Given the description of an element on the screen output the (x, y) to click on. 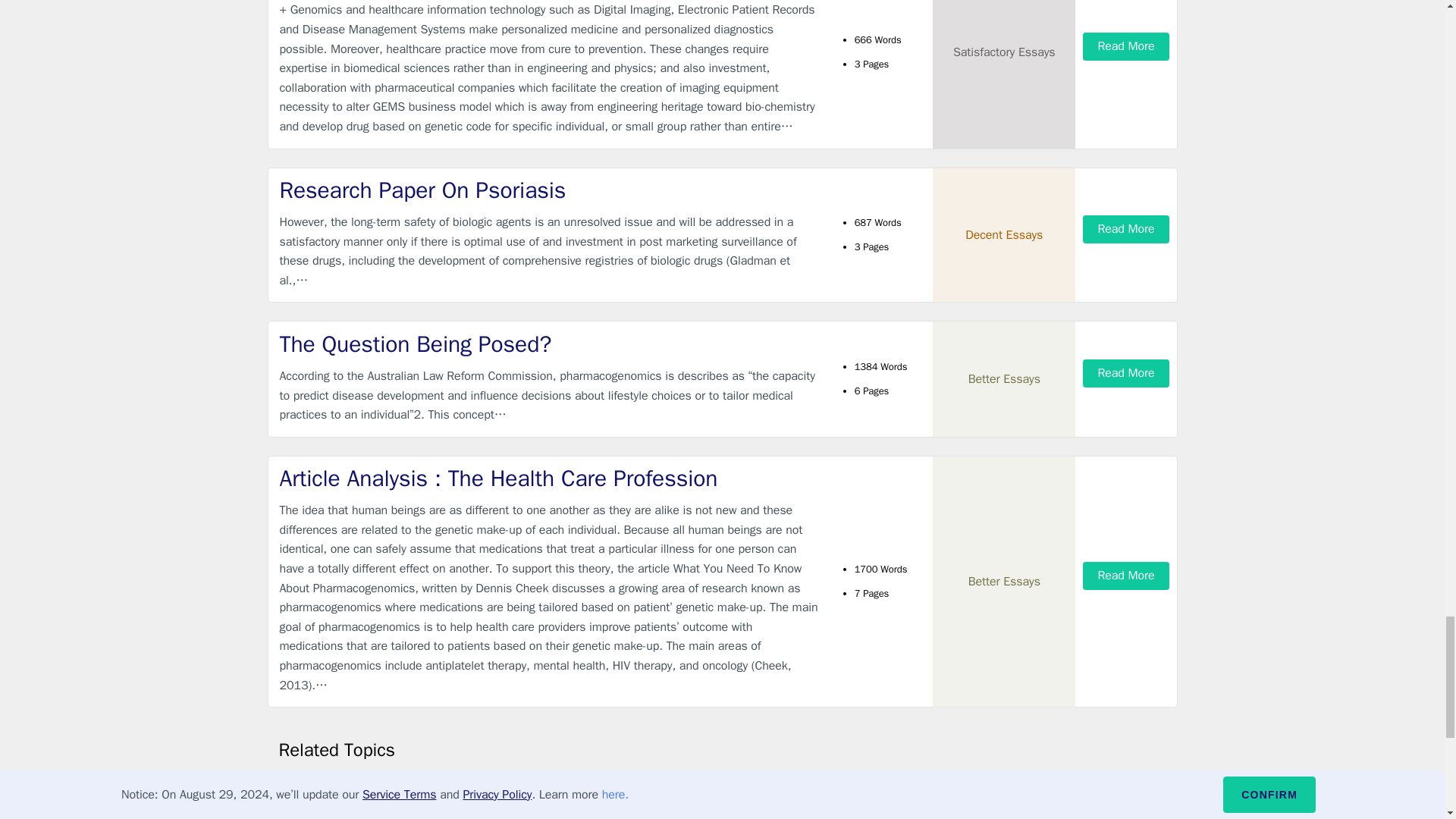
Alert (289, 786)
User interface (310, 812)
Alert messaging (688, 812)
Need (663, 786)
